Given the description of an element on the screen output the (x, y) to click on. 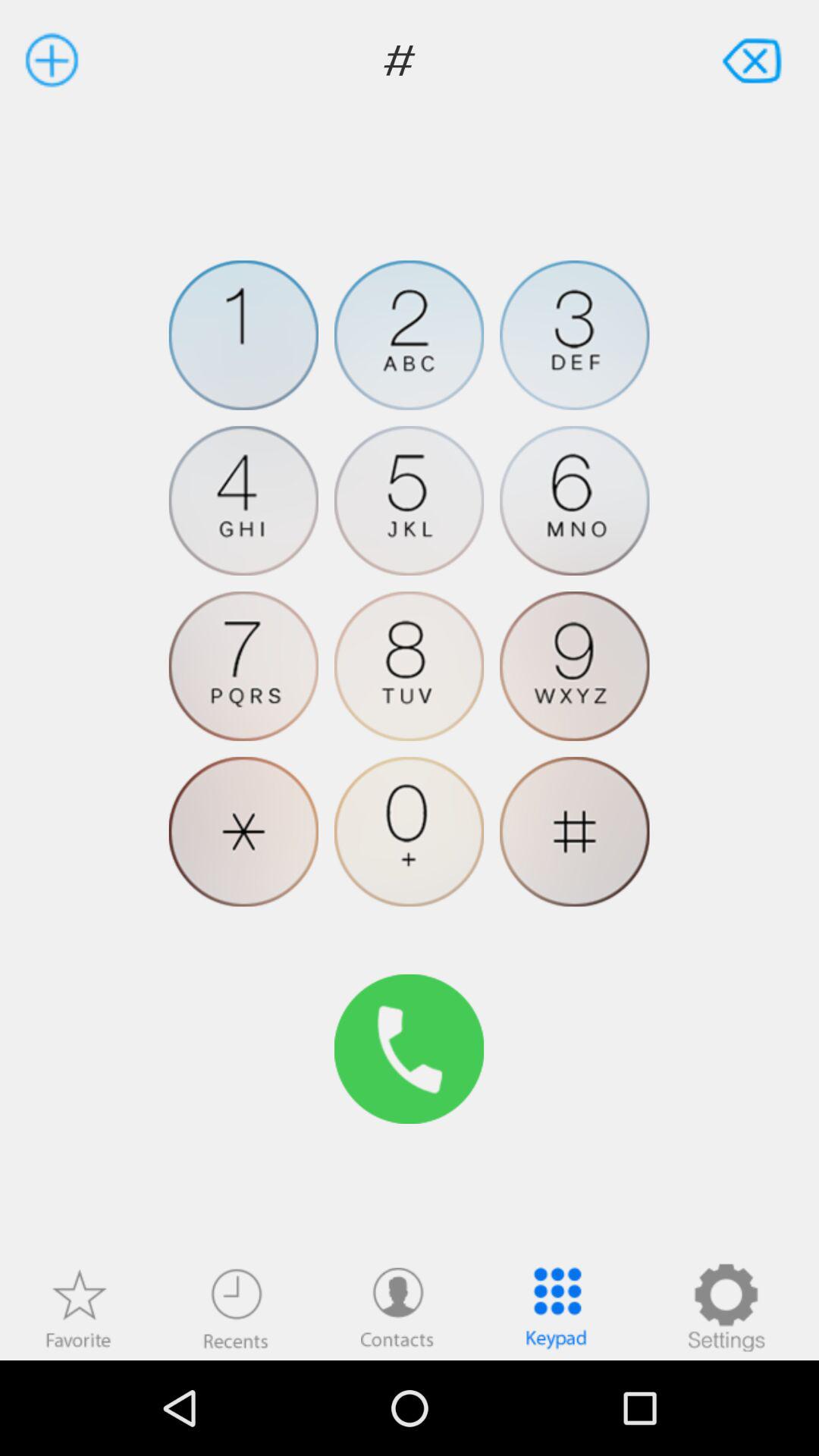
tap item below # (725, 1307)
